Given the description of an element on the screen output the (x, y) to click on. 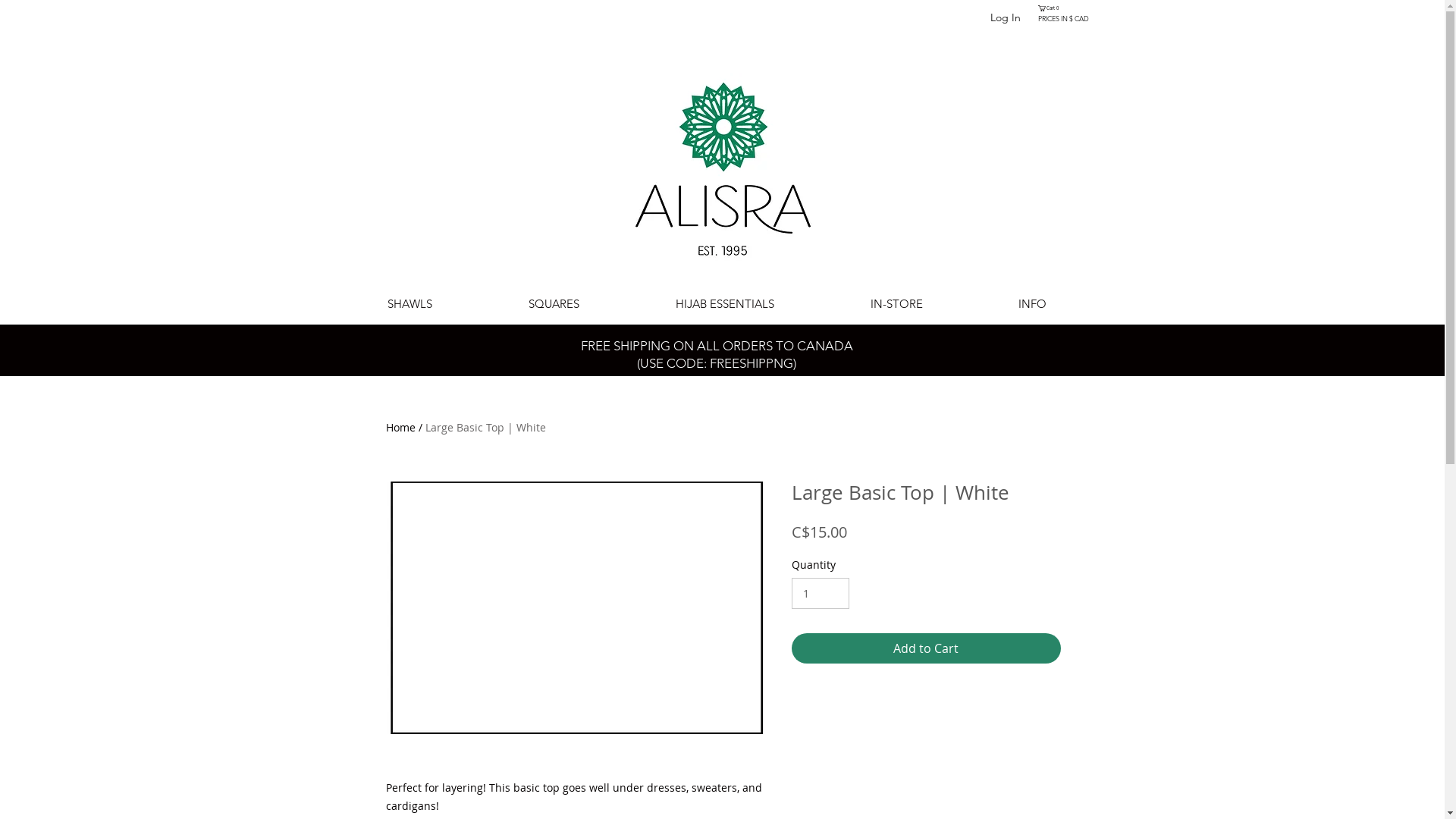
Cart
0 Element type: text (1048, 8)
Log In Element type: text (1005, 18)
IN-STORE Element type: text (895, 303)
Home Element type: text (399, 427)
Add to Cart Element type: text (925, 648)
